Given the description of an element on the screen output the (x, y) to click on. 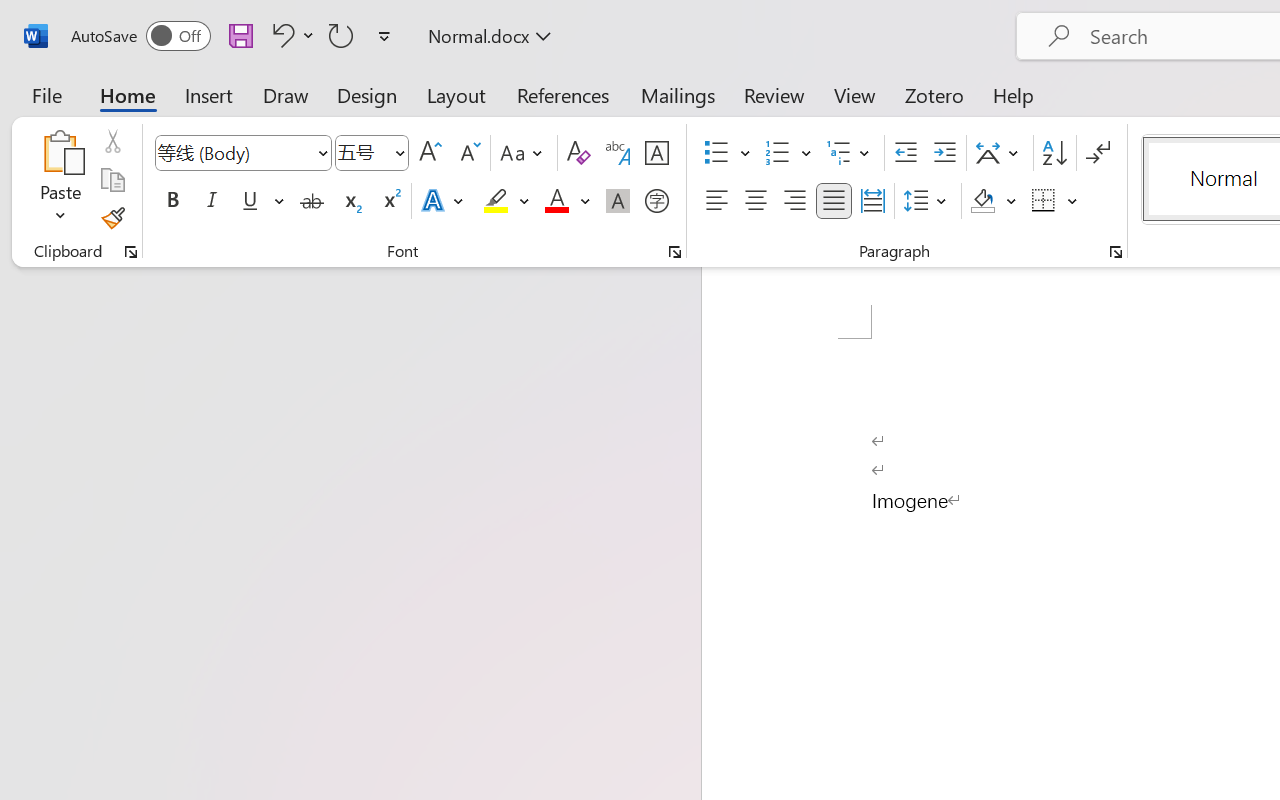
Bold (172, 201)
Italic (212, 201)
Strikethrough (312, 201)
Format Painter (112, 218)
Align Right (794, 201)
Font Color (567, 201)
Justify (834, 201)
